Given the description of an element on the screen output the (x, y) to click on. 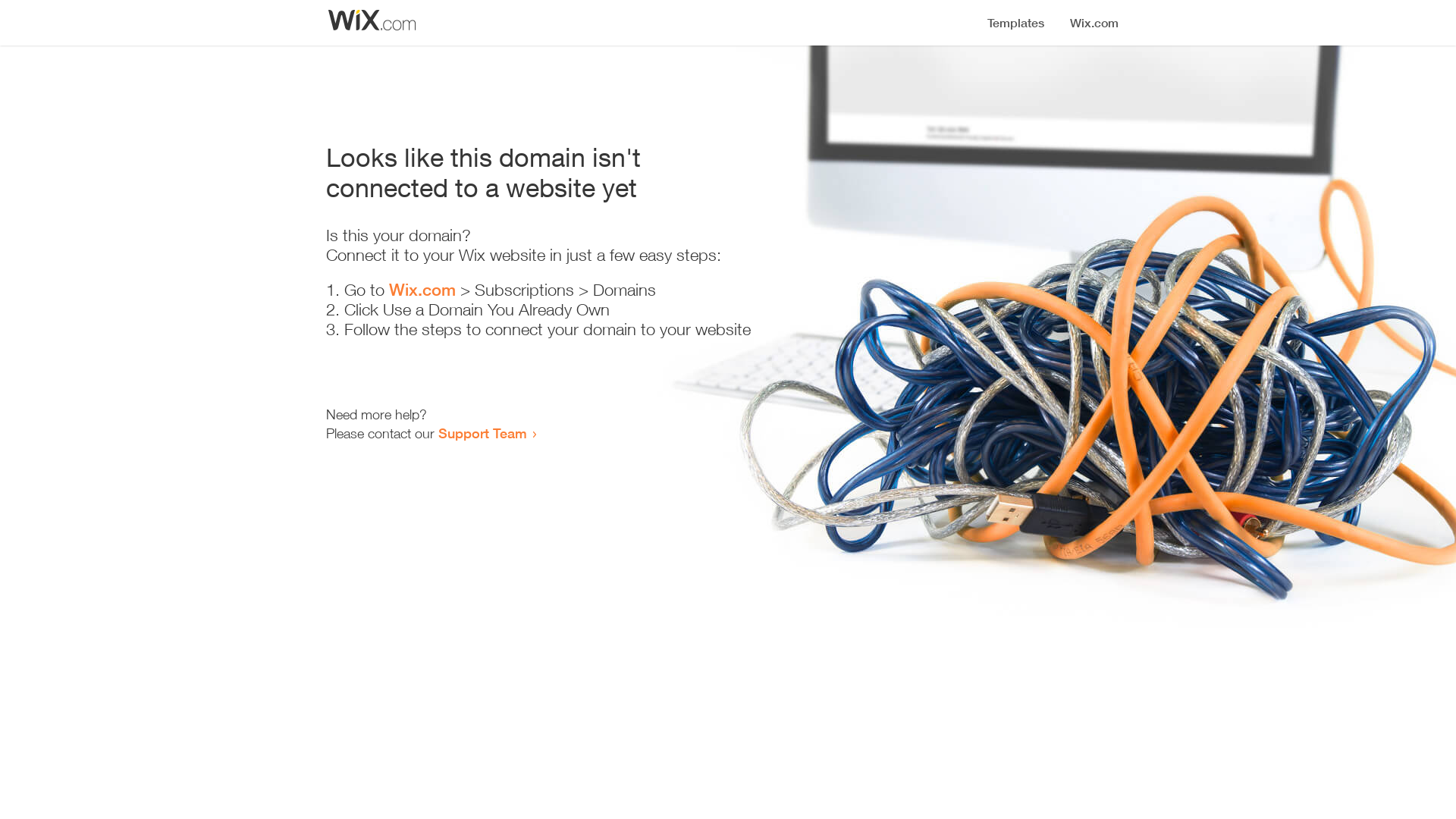
Wix.com Element type: text (422, 289)
Support Team Element type: text (482, 432)
